Given the description of an element on the screen output the (x, y) to click on. 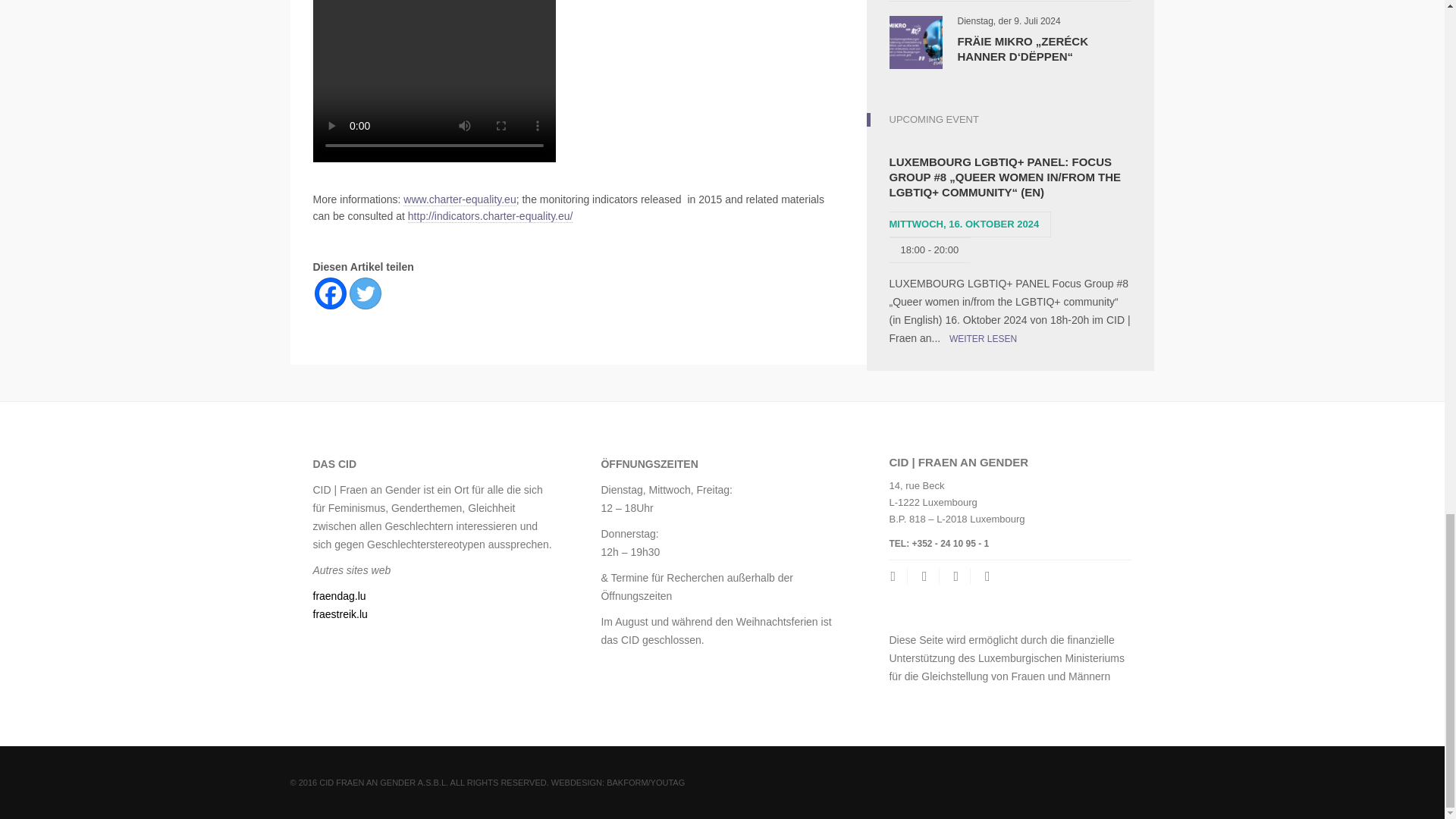
Facebook (330, 293)
Twitter (364, 293)
